Given the description of an element on the screen output the (x, y) to click on. 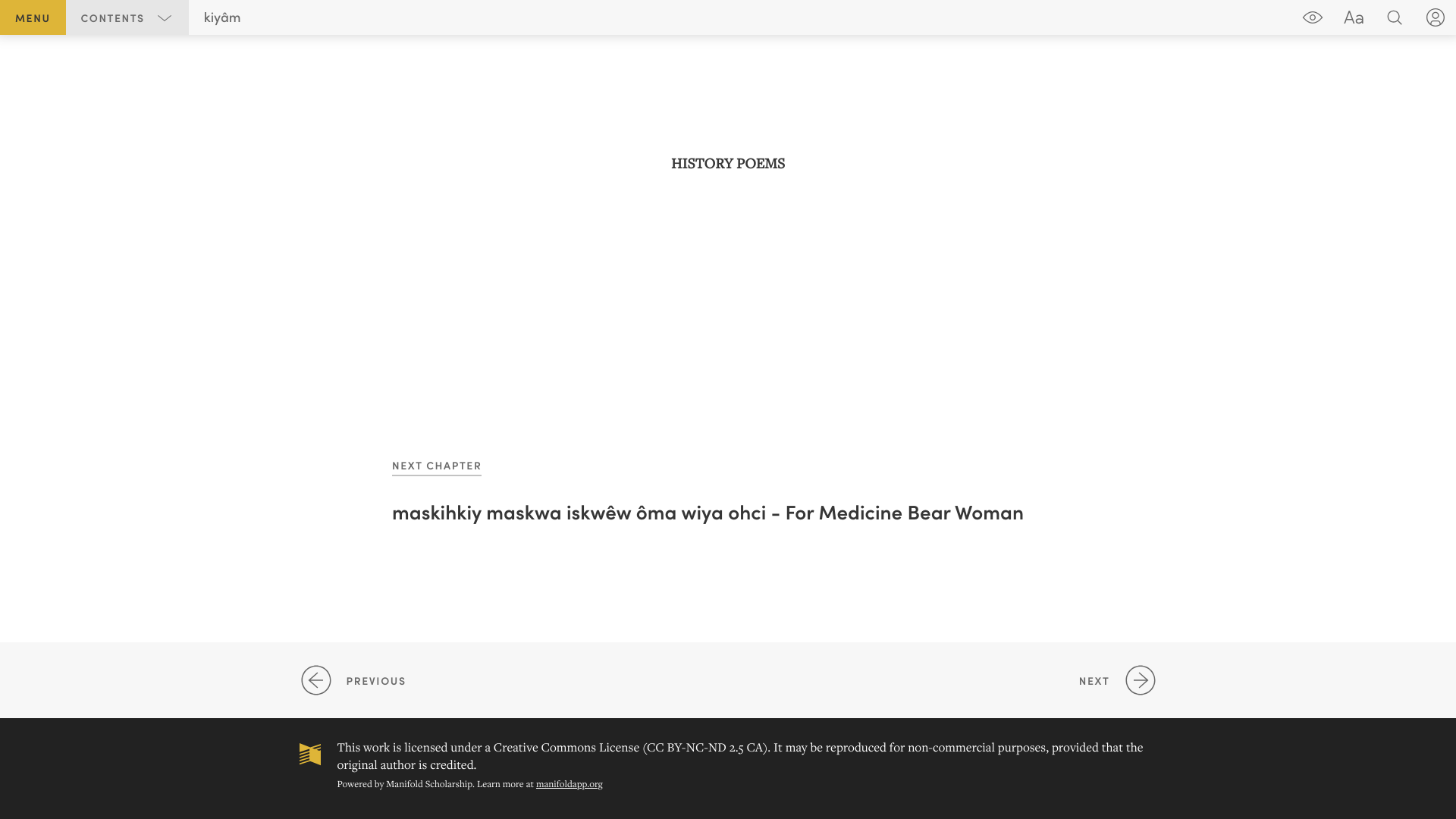
READER APPEARANCE Element type: text (1353, 17)
manifoldapp.org Element type: text (569, 784)
SEARCH Element type: text (1394, 17)
CONTENTS Element type: text (126, 17)
NEXT Element type: text (949, 680)
VISIBILITY Element type: text (1312, 17)
PREVIOUS Element type: text (519, 680)
MENU Element type: text (32, 17)
